Given the description of an element on the screen output the (x, y) to click on. 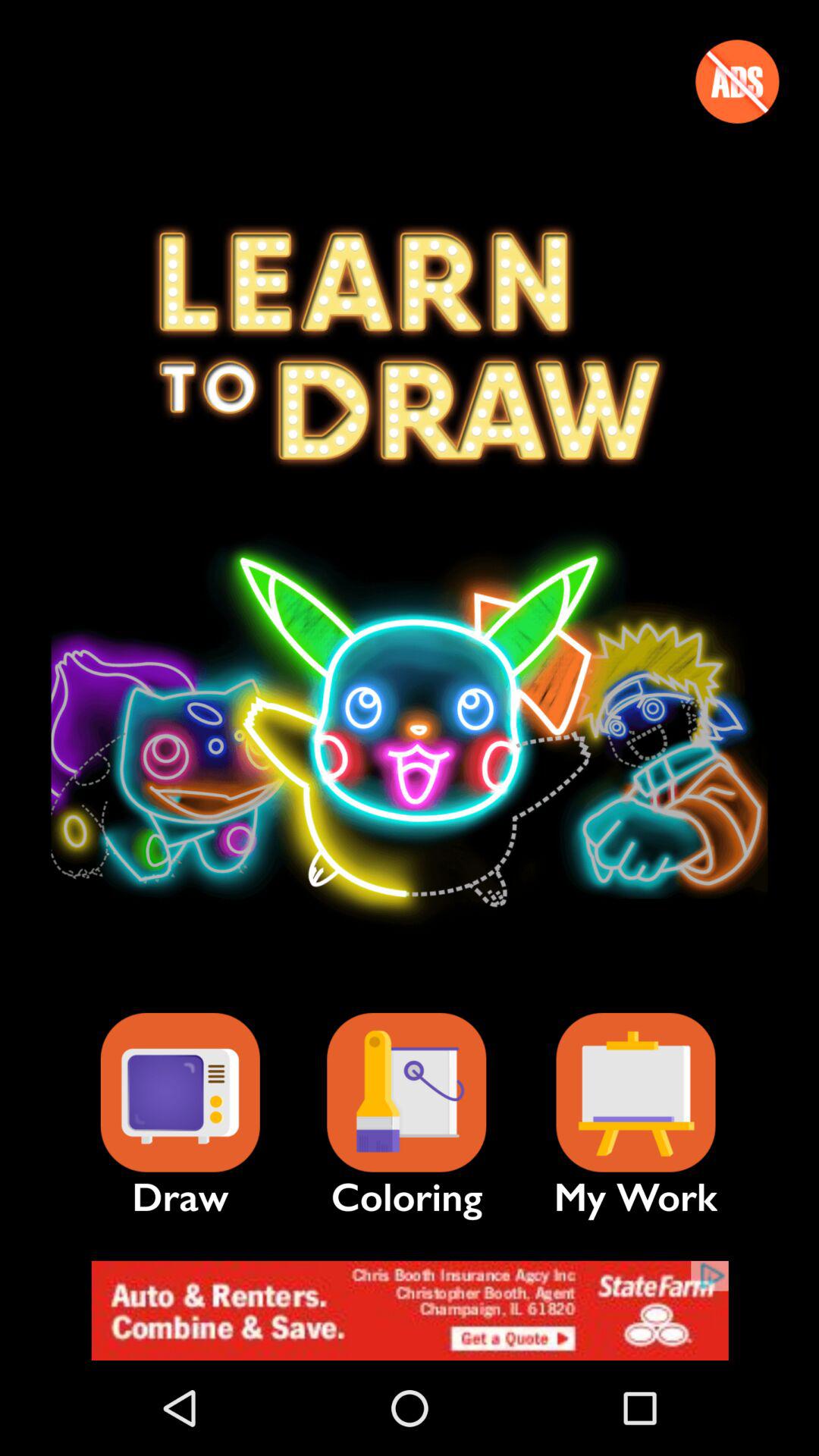
view my work (635, 1092)
